Given the description of an element on the screen output the (x, y) to click on. 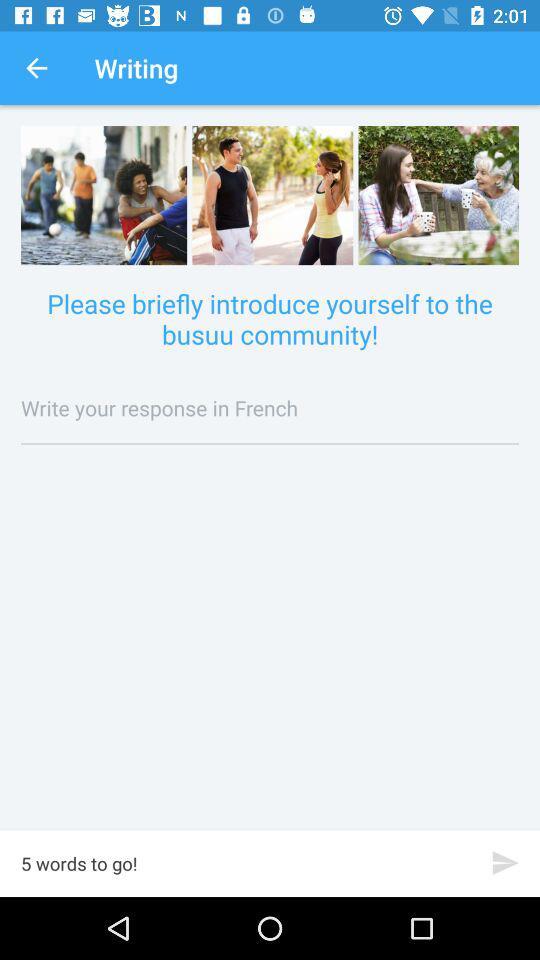
it is used to go to the next page (505, 862)
